Given the description of an element on the screen output the (x, y) to click on. 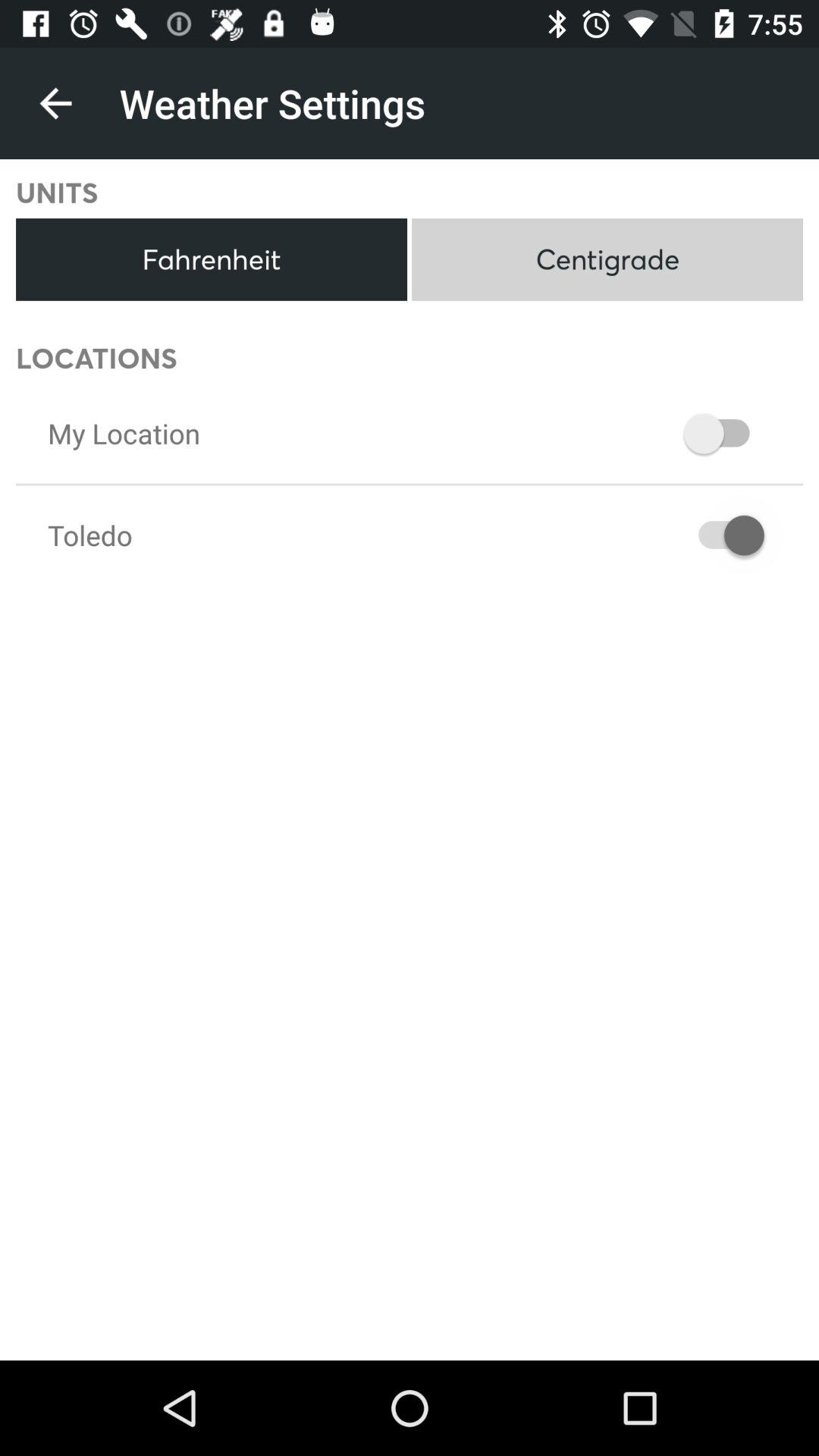
tap item above units (55, 103)
